Given the description of an element on the screen output the (x, y) to click on. 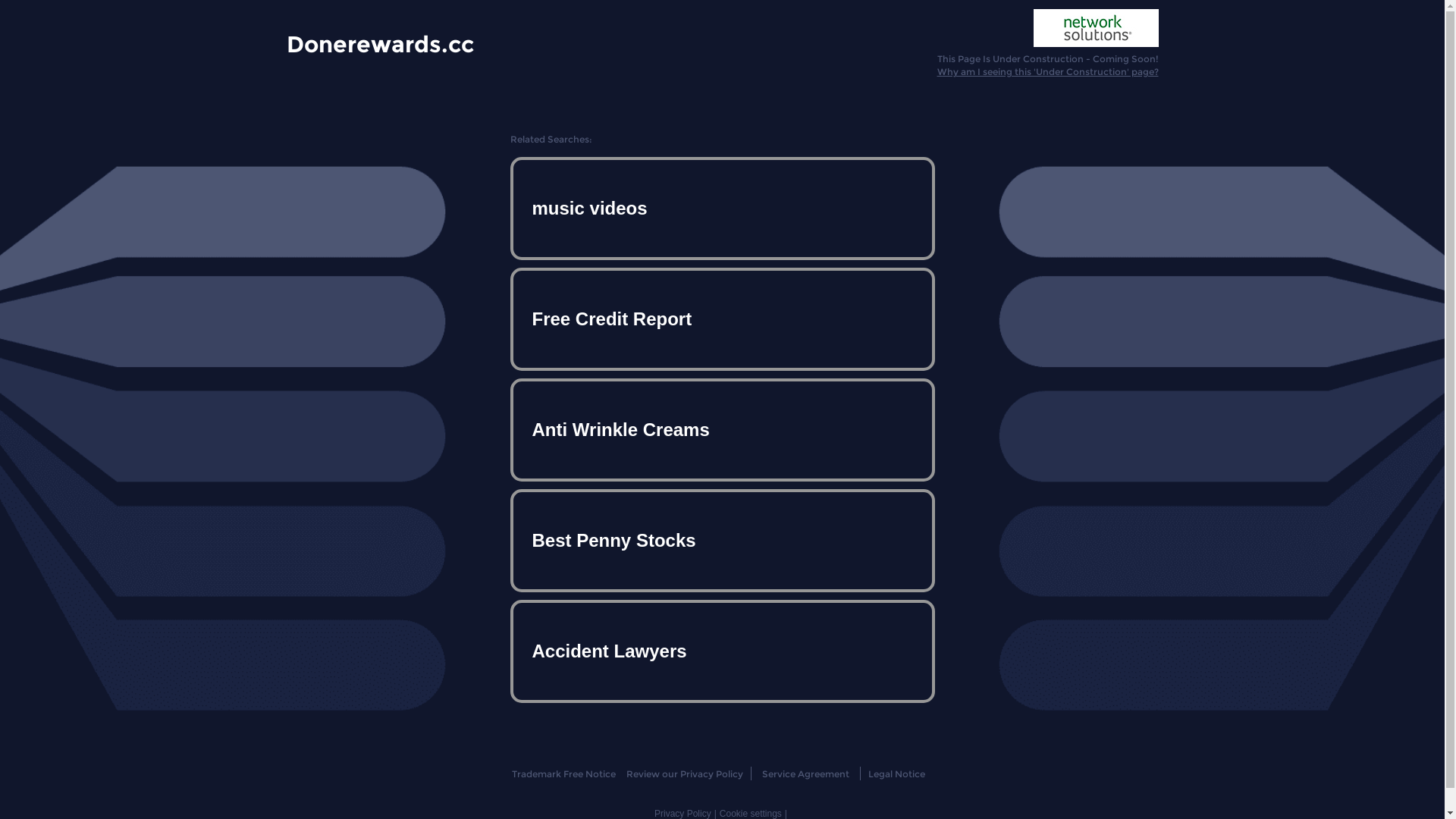
Anti Wrinkle Creams Element type: text (721, 429)
Why am I seeing this 'Under Construction' page? Element type: text (1047, 71)
music videos Element type: text (721, 208)
Donerewards.cc Element type: text (379, 43)
Service Agreement Element type: text (805, 773)
Accident Lawyers Element type: text (721, 650)
Legal Notice Element type: text (896, 773)
Free Credit Report Element type: text (721, 318)
Best Penny Stocks Element type: text (721, 540)
Review our Privacy Policy Element type: text (684, 773)
Trademark Free Notice Element type: text (563, 773)
